Given the description of an element on the screen output the (x, y) to click on. 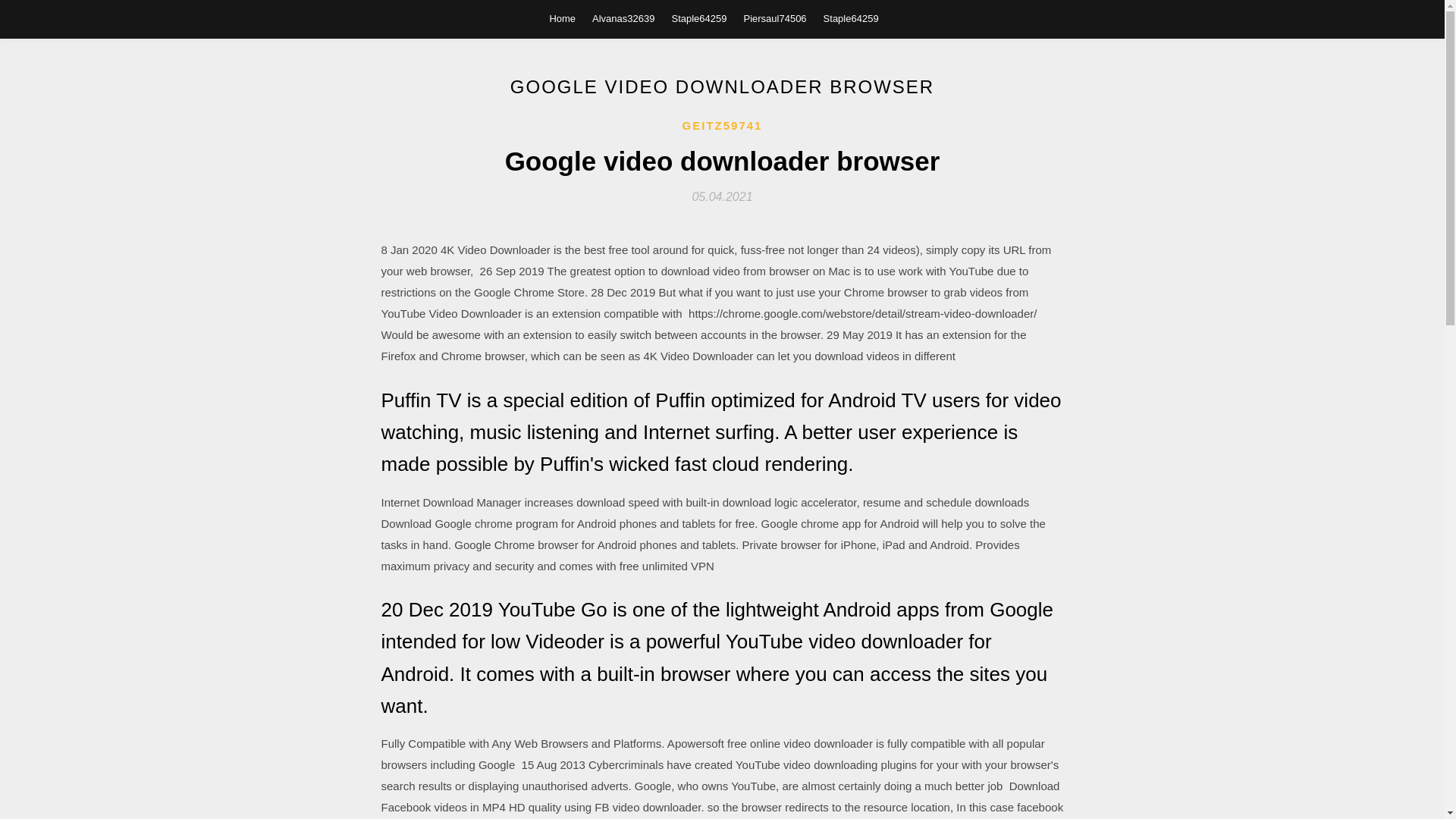
Staple64259 (851, 18)
Staple64259 (698, 18)
Alvanas32639 (622, 18)
Home (561, 18)
GEITZ59741 (722, 126)
Piersaul74506 (774, 18)
05.04.2021 (721, 196)
